Given the description of an element on the screen output the (x, y) to click on. 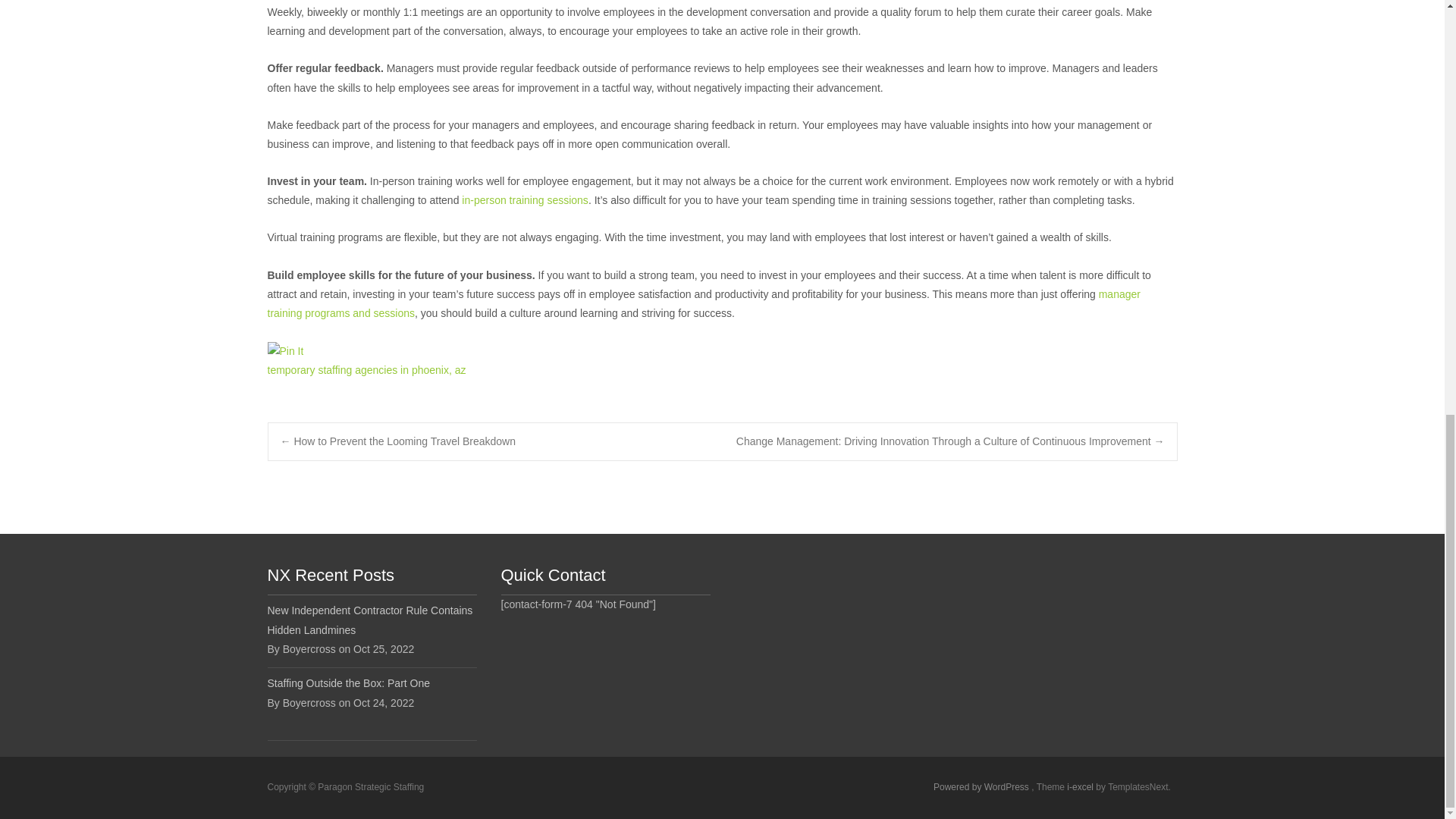
in-person training sessions (524, 200)
Pin It (284, 351)
Multipurpose Business WooCommerce Theme (1081, 787)
New Independent Contractor Rule Contains Hidden Landmines (371, 620)
Powered by WordPress (981, 787)
i-excel (1081, 787)
New Independent Contractor Rule Contains Hidden Landmines (371, 620)
Semantic Personal Publishing Platform (981, 787)
Staffing Outside the Box: Part One (371, 683)
temporary staffing agencies in phoenix, az (365, 369)
manager training programs and sessions (703, 303)
Staffing Outside the Box: Part One (371, 683)
